Given the description of an element on the screen output the (x, y) to click on. 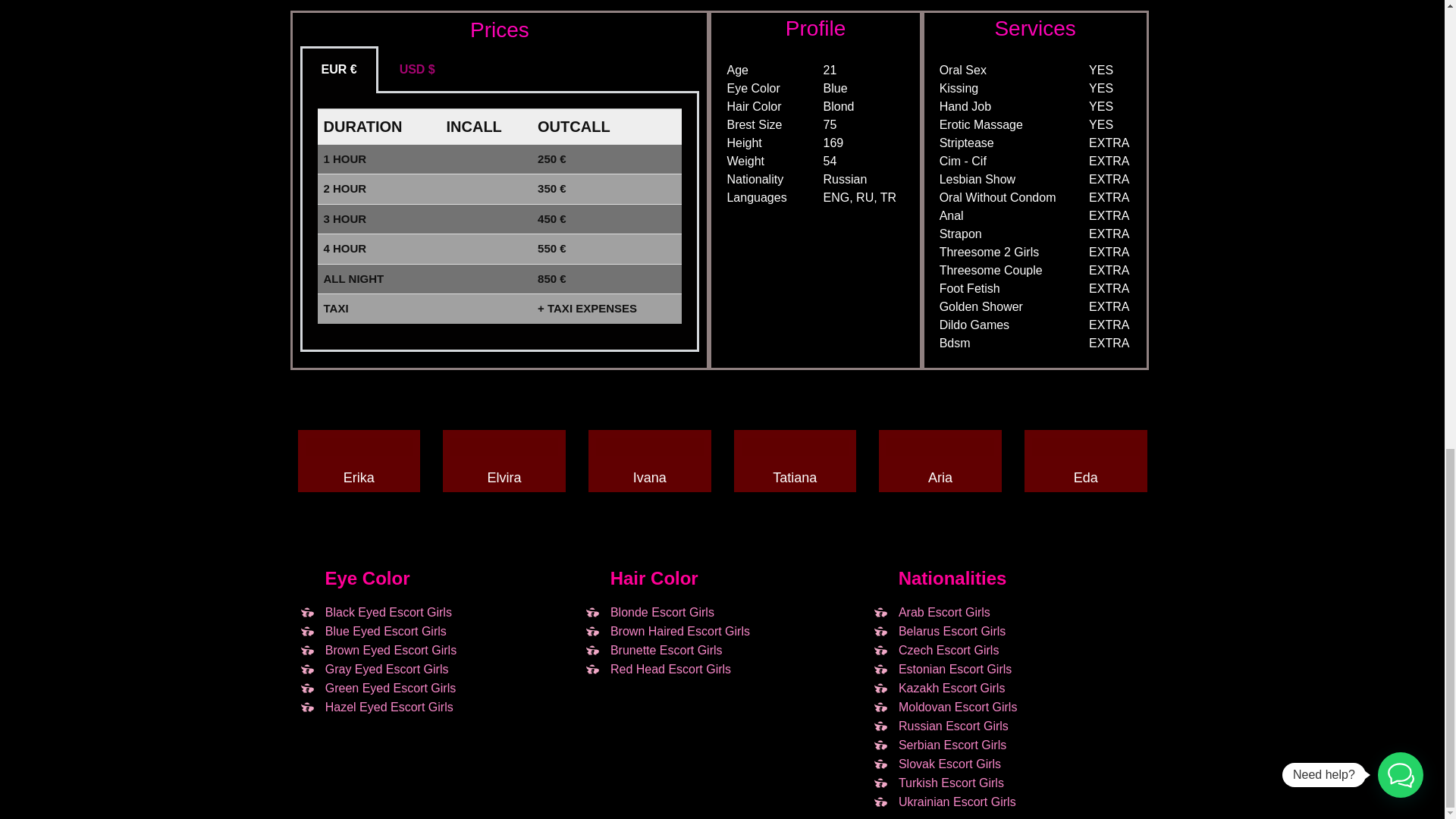
Green Eyed Escort Girls (376, 687)
Aria (940, 477)
Eda (1085, 477)
Ivana (649, 477)
Elvira (503, 477)
Black Eyed Escort Girls (374, 611)
Erika (358, 477)
Brown Eyed Escort Girls (377, 650)
Blue Eyed Escort Girls (371, 630)
Gray Eyed Escort Girls (372, 669)
